Given the description of an element on the screen output the (x, y) to click on. 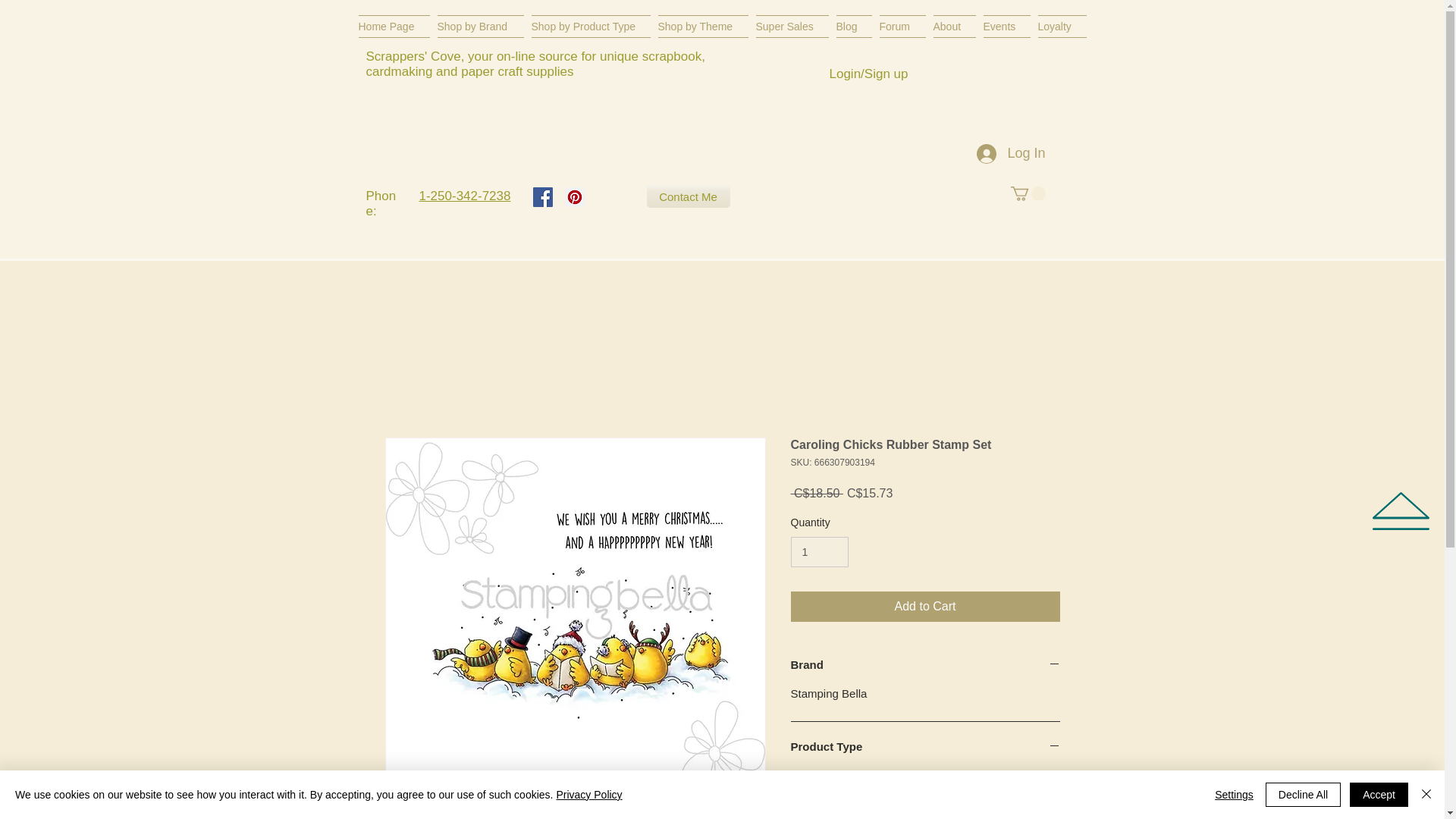
Shop by Brand (480, 26)
Home Page (395, 26)
1 (818, 552)
